Given the description of an element on the screen output the (x, y) to click on. 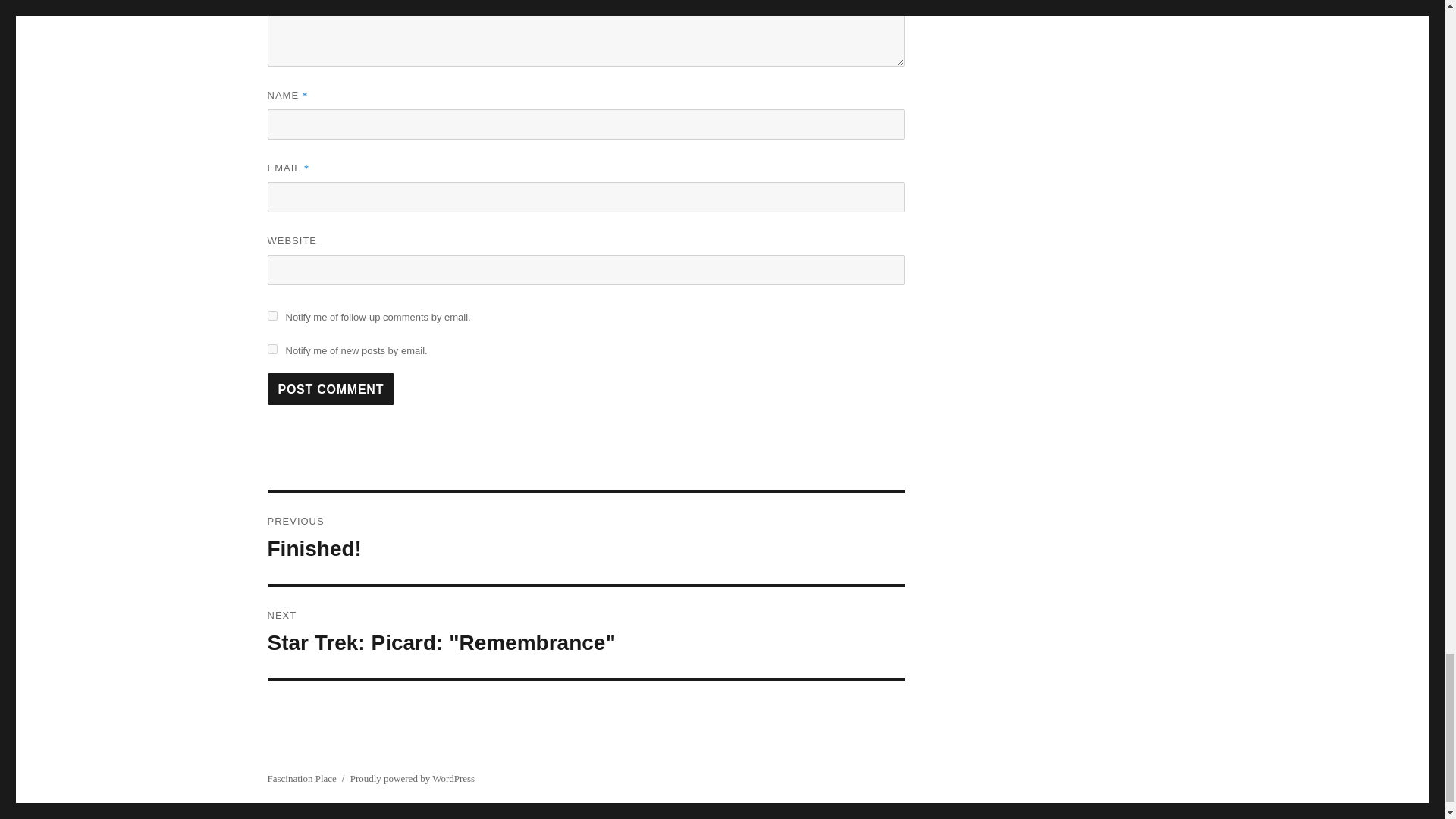
Post Comment (330, 388)
subscribe (271, 348)
subscribe (271, 316)
Post Comment (585, 538)
